Given the description of an element on the screen output the (x, y) to click on. 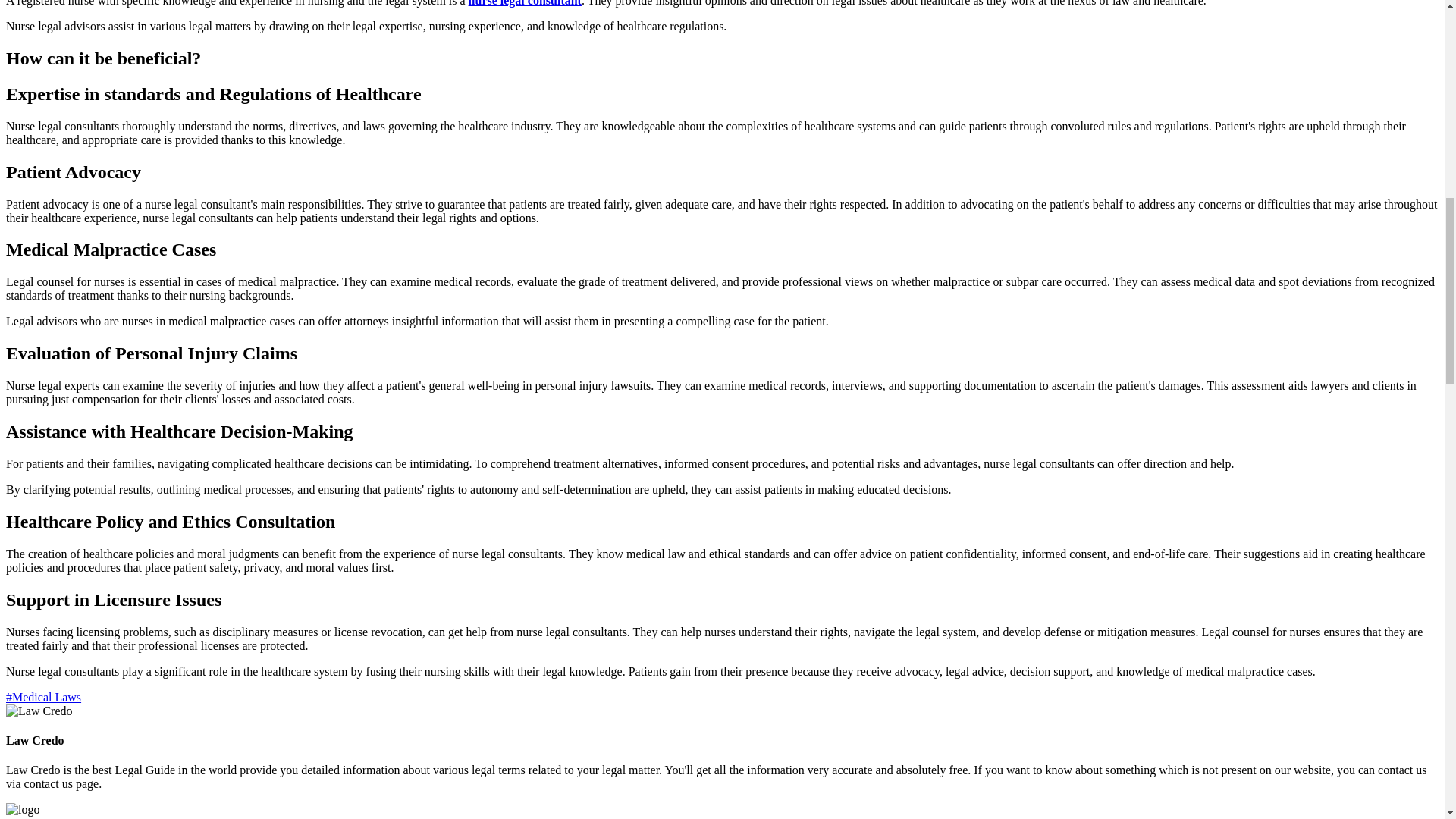
nurse legal consultant (524, 3)
